Given the description of an element on the screen output the (x, y) to click on. 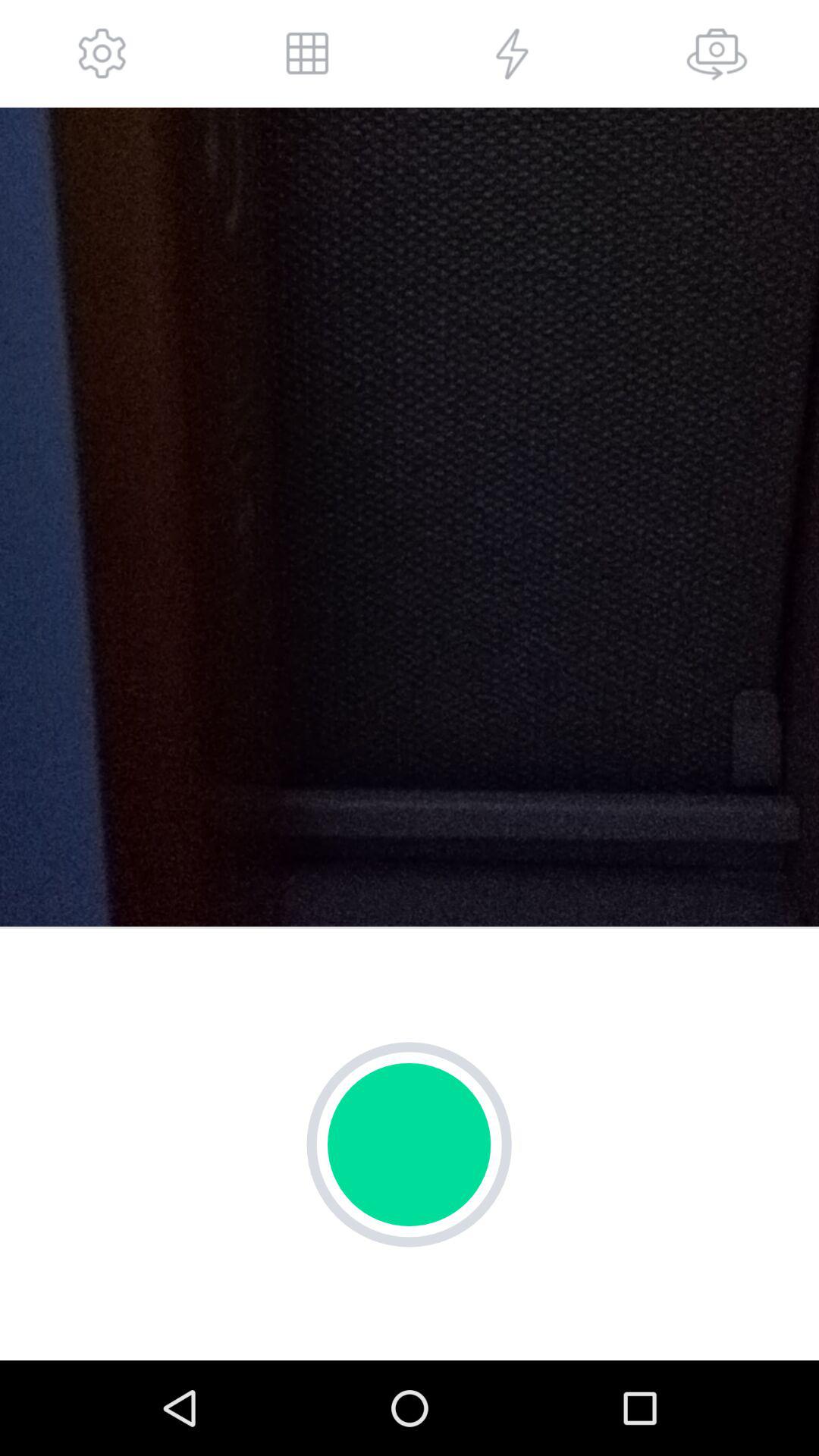
clik the option for particular process (511, 53)
